Given the description of an element on the screen output the (x, y) to click on. 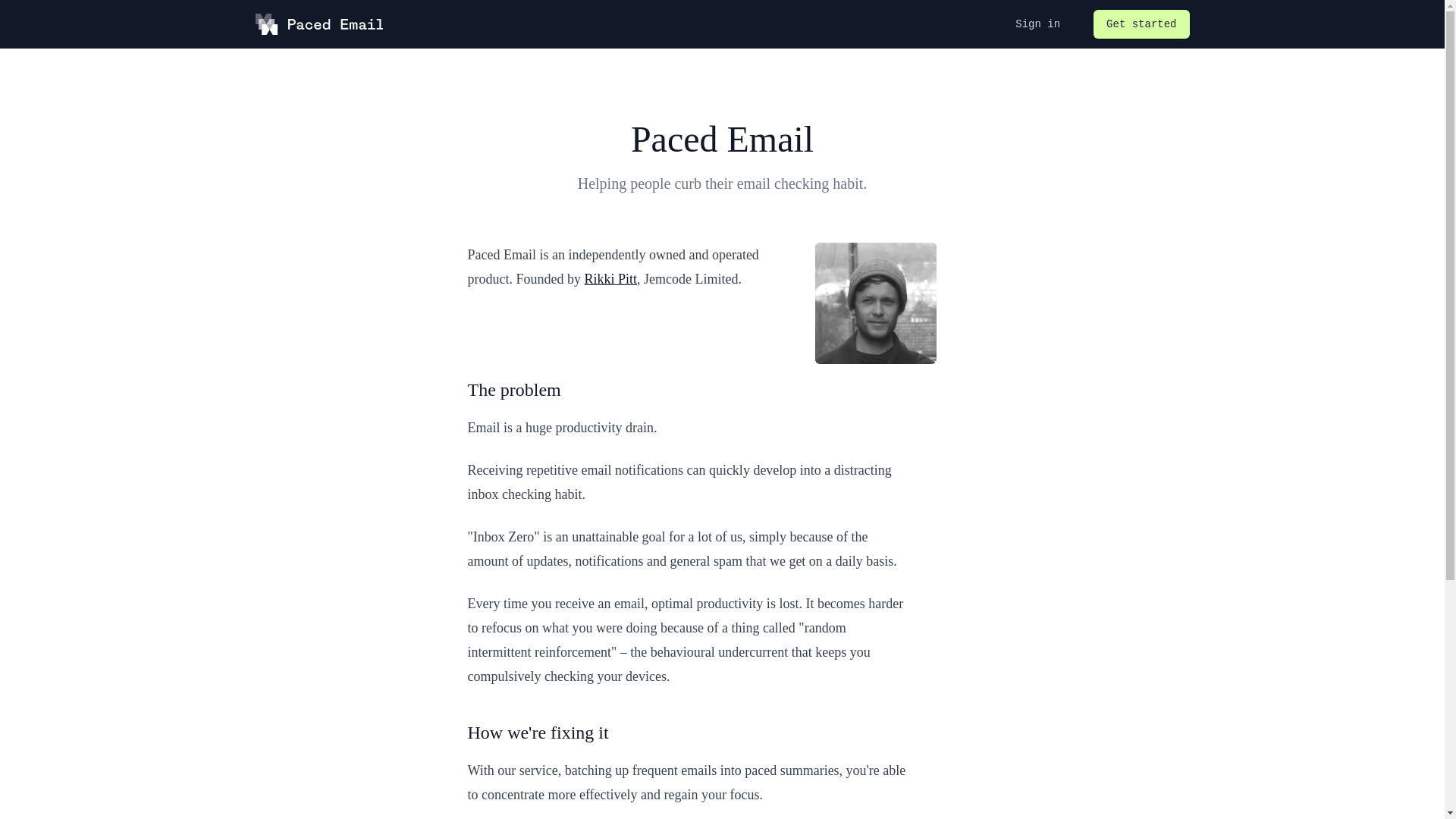
Rikki Pitt (610, 278)
Get started (1141, 23)
Sign in (1037, 23)
